Given the description of an element on the screen output the (x, y) to click on. 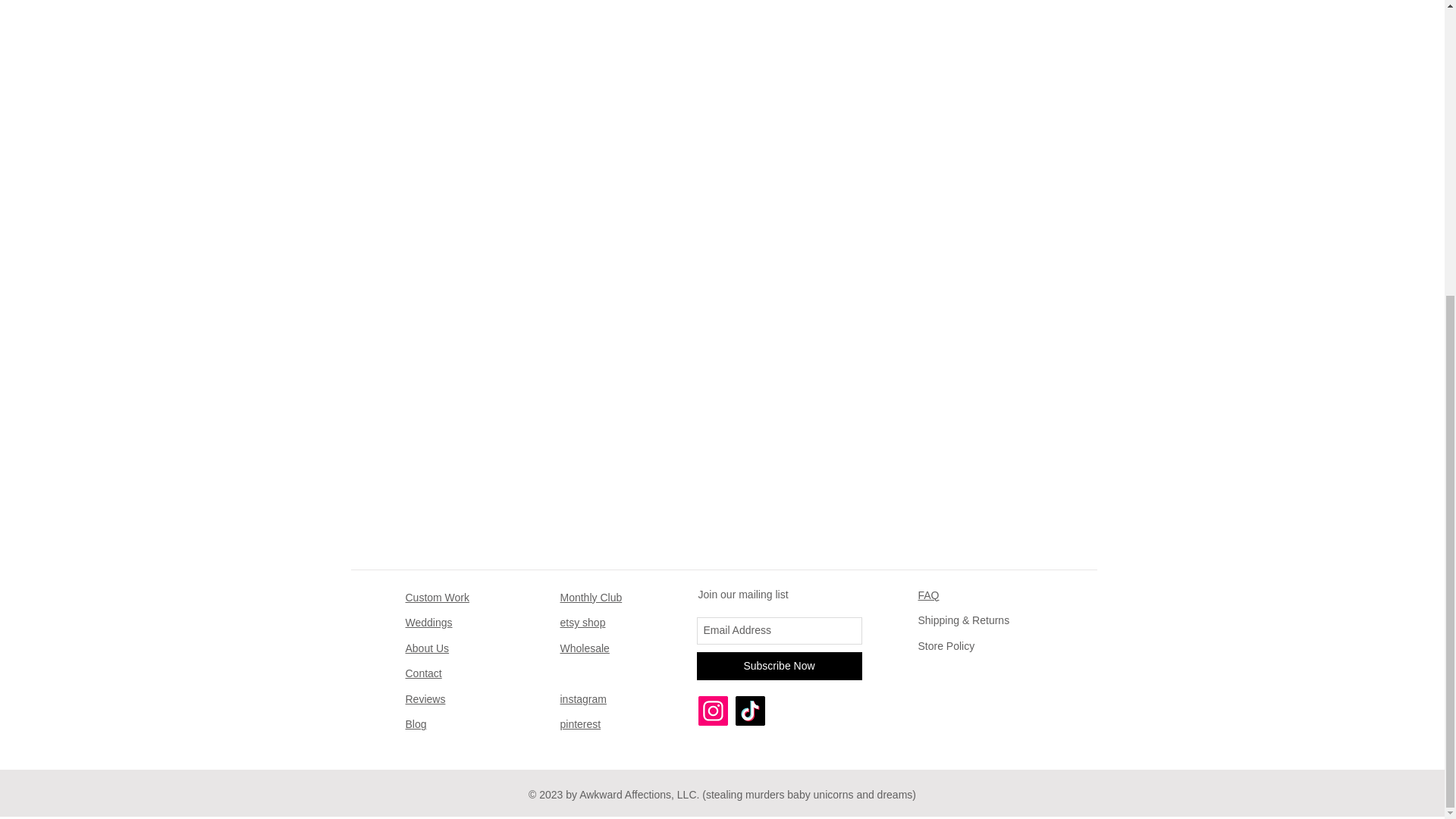
Monthly Club (590, 596)
Reviews (424, 698)
Contact (422, 673)
Wholesale (583, 648)
About Us (426, 648)
Custom Work (436, 596)
Blog (415, 724)
Weddings (427, 622)
instagram (582, 698)
etsy shop (582, 622)
